Given the description of an element on the screen output the (x, y) to click on. 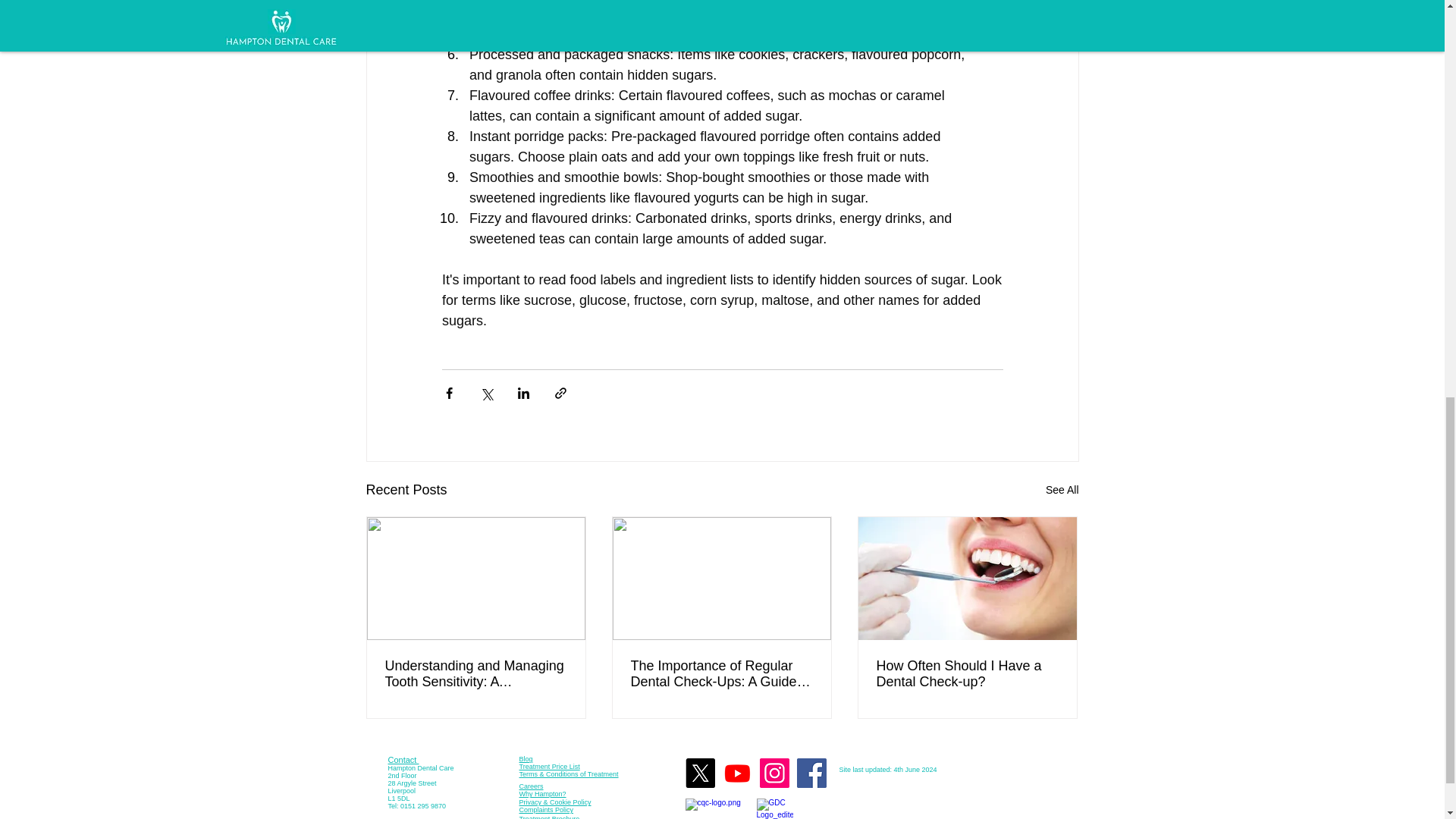
Treatment Price List (548, 766)
Complaints Policy (545, 809)
How Often Should I Have a Dental Check-up? (967, 674)
Careers (530, 786)
Why Hampton? (542, 793)
Treatment Brochure (548, 816)
Blog (525, 758)
See All (1061, 490)
